Given the description of an element on the screen output the (x, y) to click on. 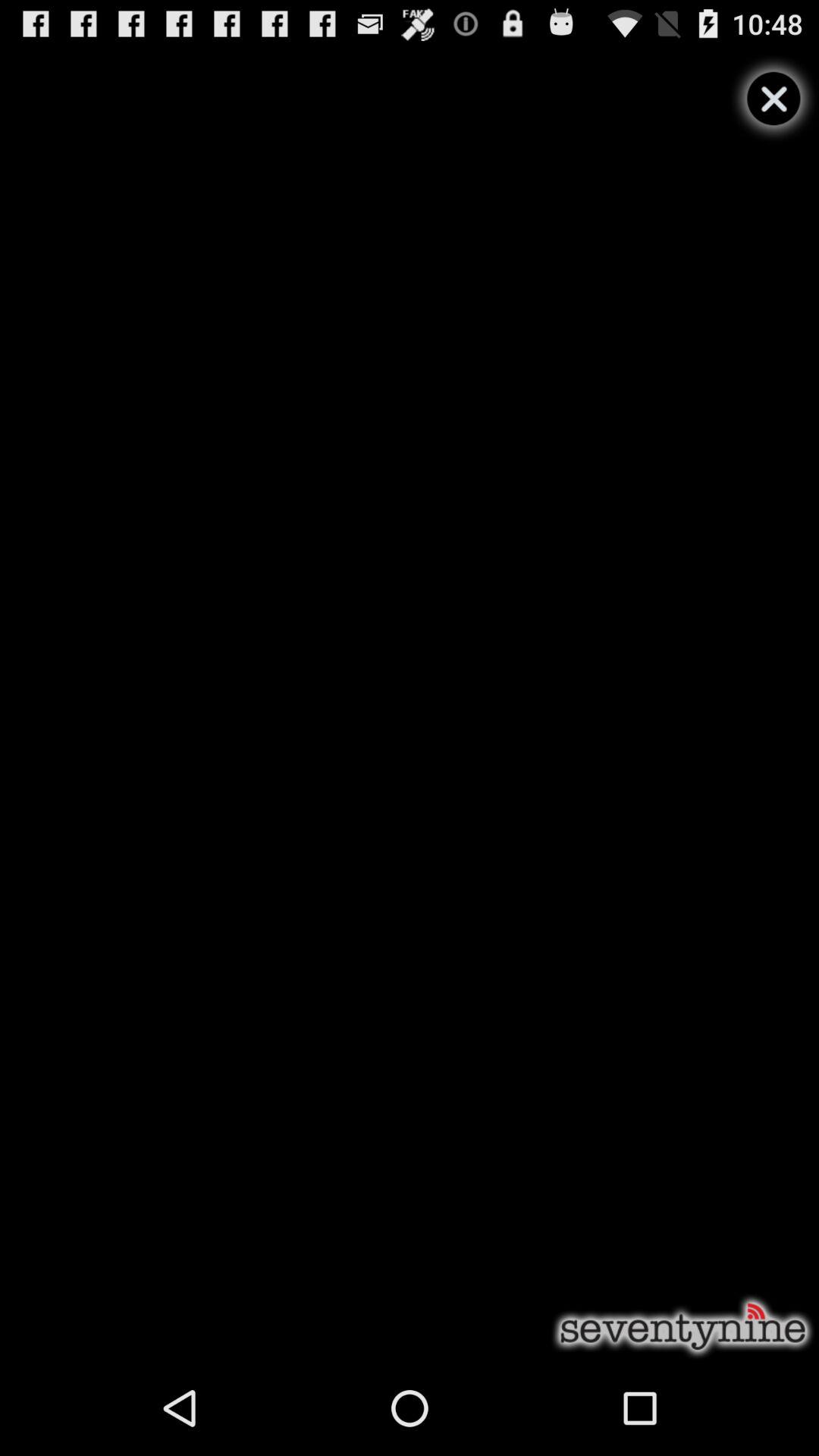
turn on the item at the top right corner (773, 98)
